Given the description of an element on the screen output the (x, y) to click on. 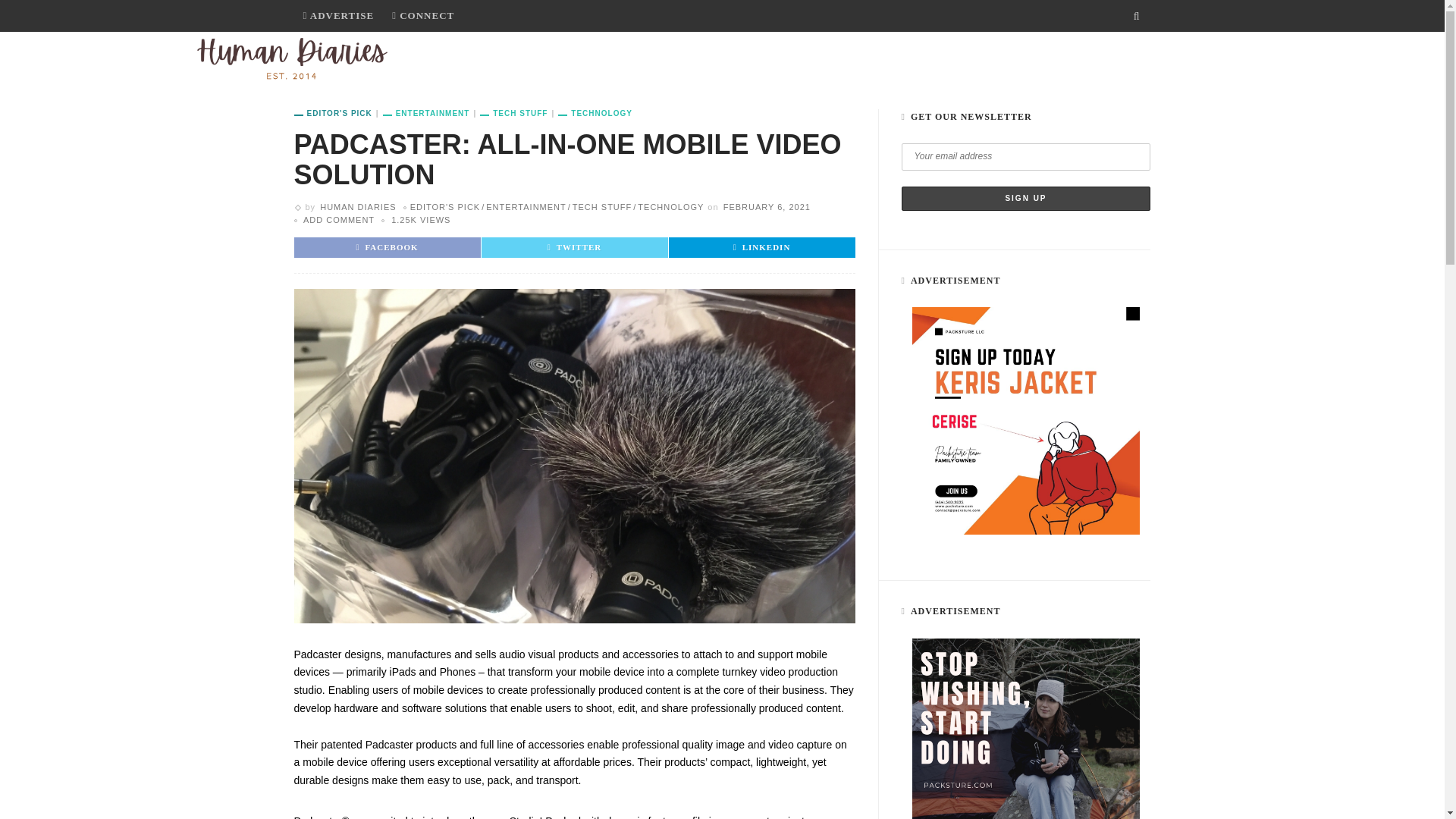
Entertainment (523, 206)
Tech Stuff (598, 206)
Entertainment (431, 112)
Editor's Pick (338, 112)
Sign up (1025, 198)
Padcaster: all-in-one mobile video solution (420, 219)
Editor's Pick (445, 206)
TECH STUFF (691, 58)
GEAR OP (602, 58)
Tech Stuff (518, 112)
CONNECT (422, 15)
Technology (594, 112)
Human Diaries (291, 58)
RECIPES (778, 58)
HOME (438, 58)
